Given the description of an element on the screen output the (x, y) to click on. 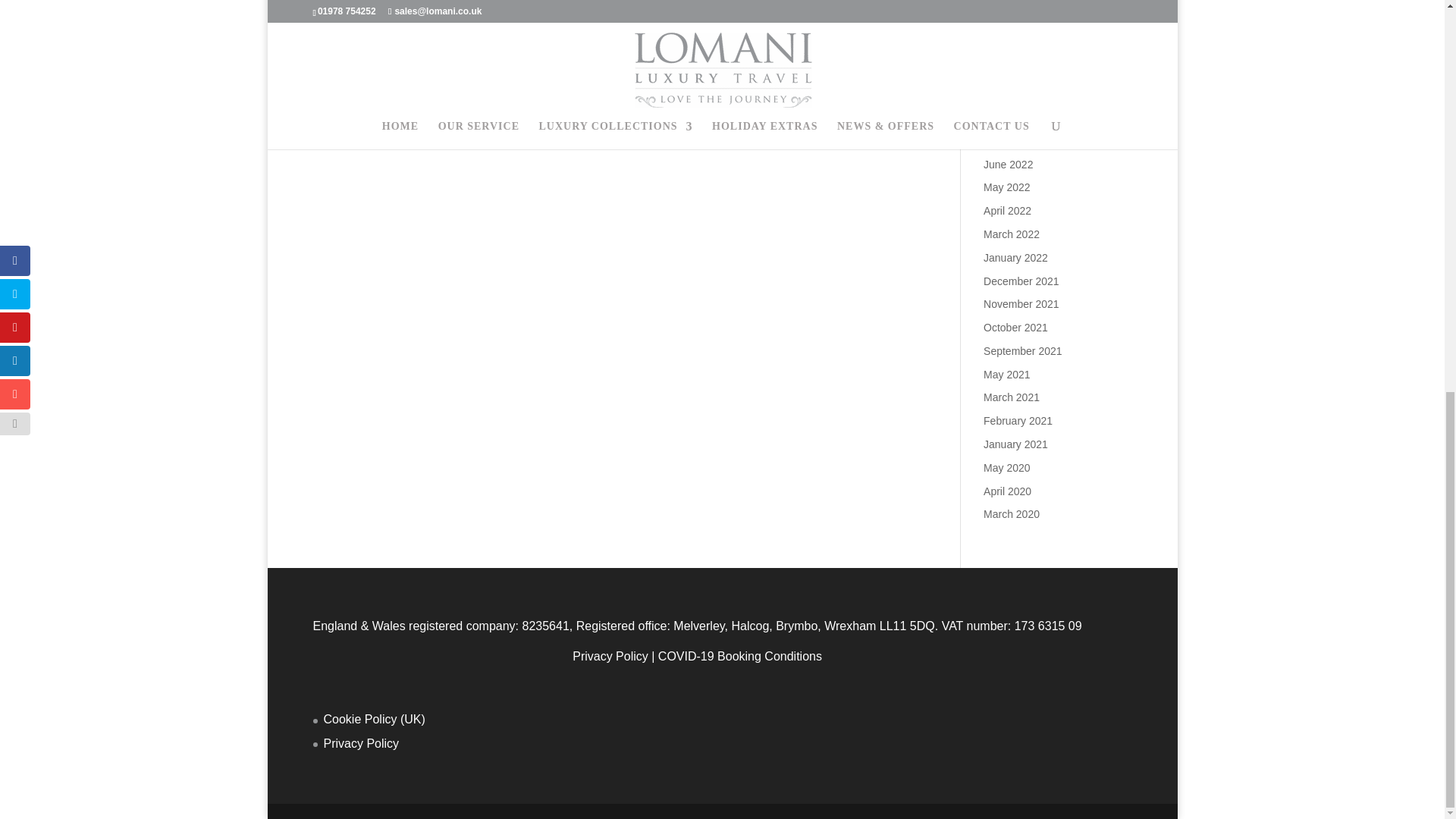
August 2022 (1013, 117)
October 2022 (1016, 70)
January 2023 (1016, 3)
November 2022 (1021, 47)
September 2022 (1023, 93)
July 2022 (1006, 141)
December 2022 (1021, 24)
